Given the description of an element on the screen output the (x, y) to click on. 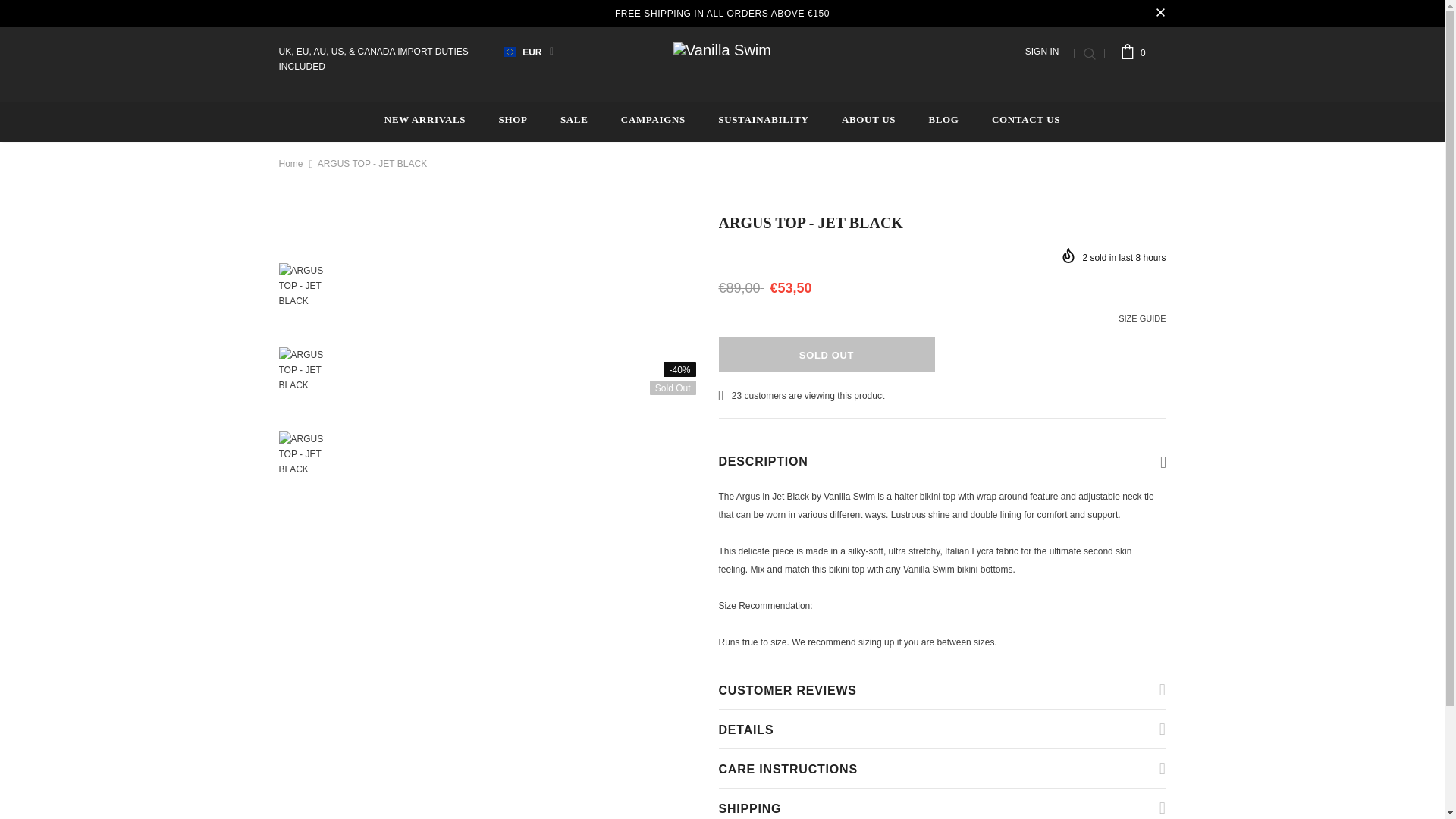
Sold Out (826, 354)
Logo (721, 48)
close (1160, 13)
